Given the description of an element on the screen output the (x, y) to click on. 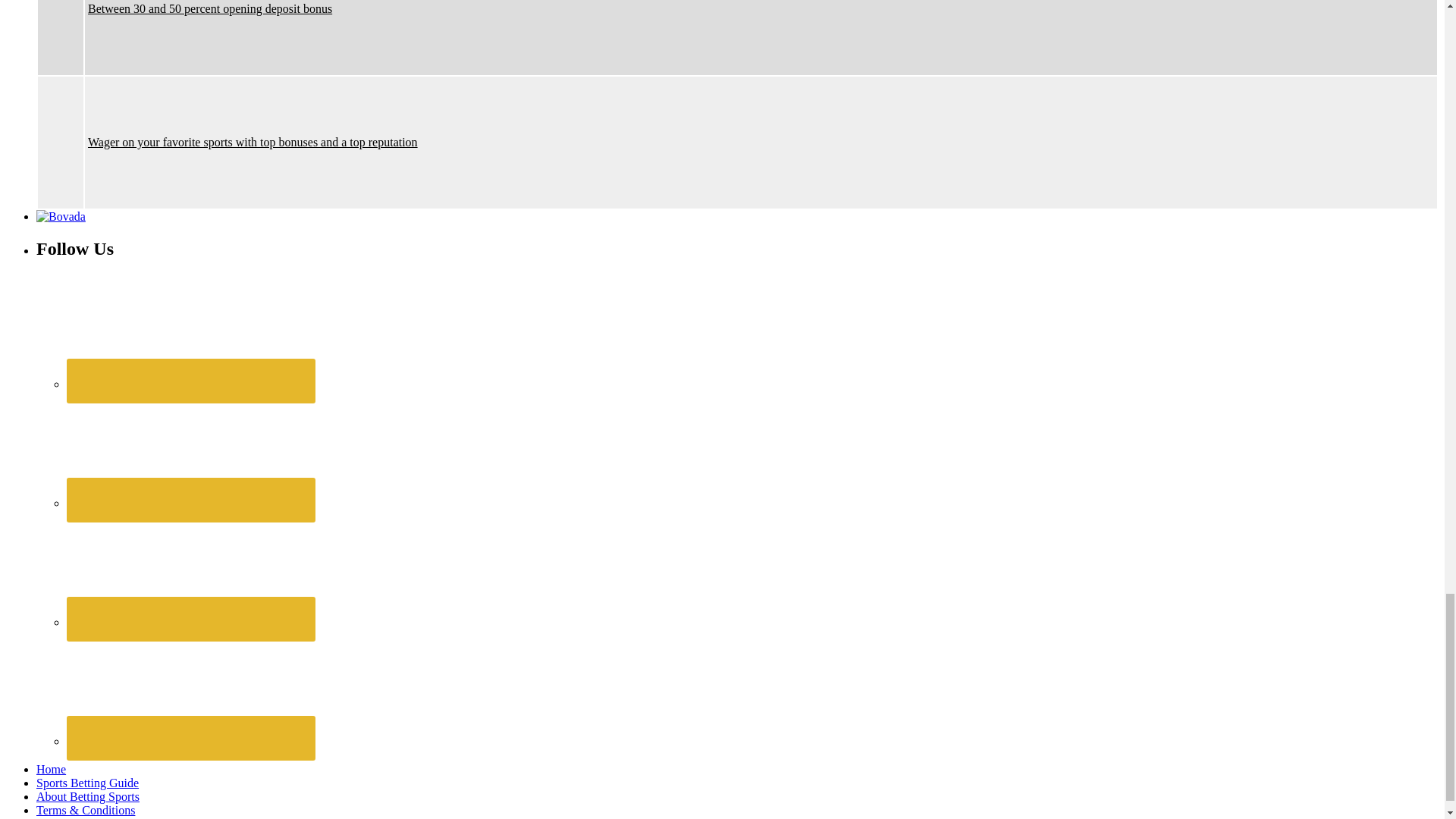
YouTube (190, 688)
Pinterest (190, 449)
Twitter (190, 568)
Facebook (190, 330)
